Given the description of an element on the screen output the (x, y) to click on. 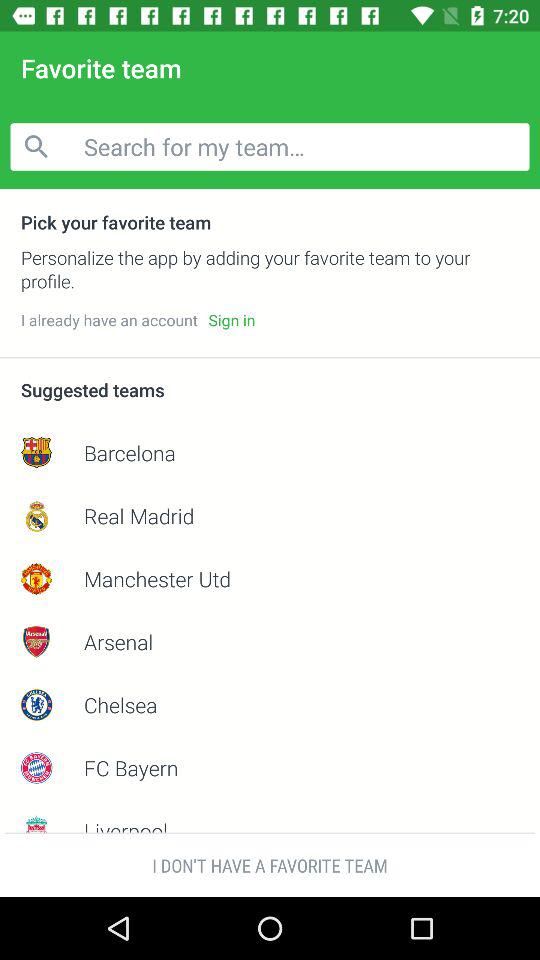
select the sign in (231, 319)
